Given the description of an element on the screen output the (x, y) to click on. 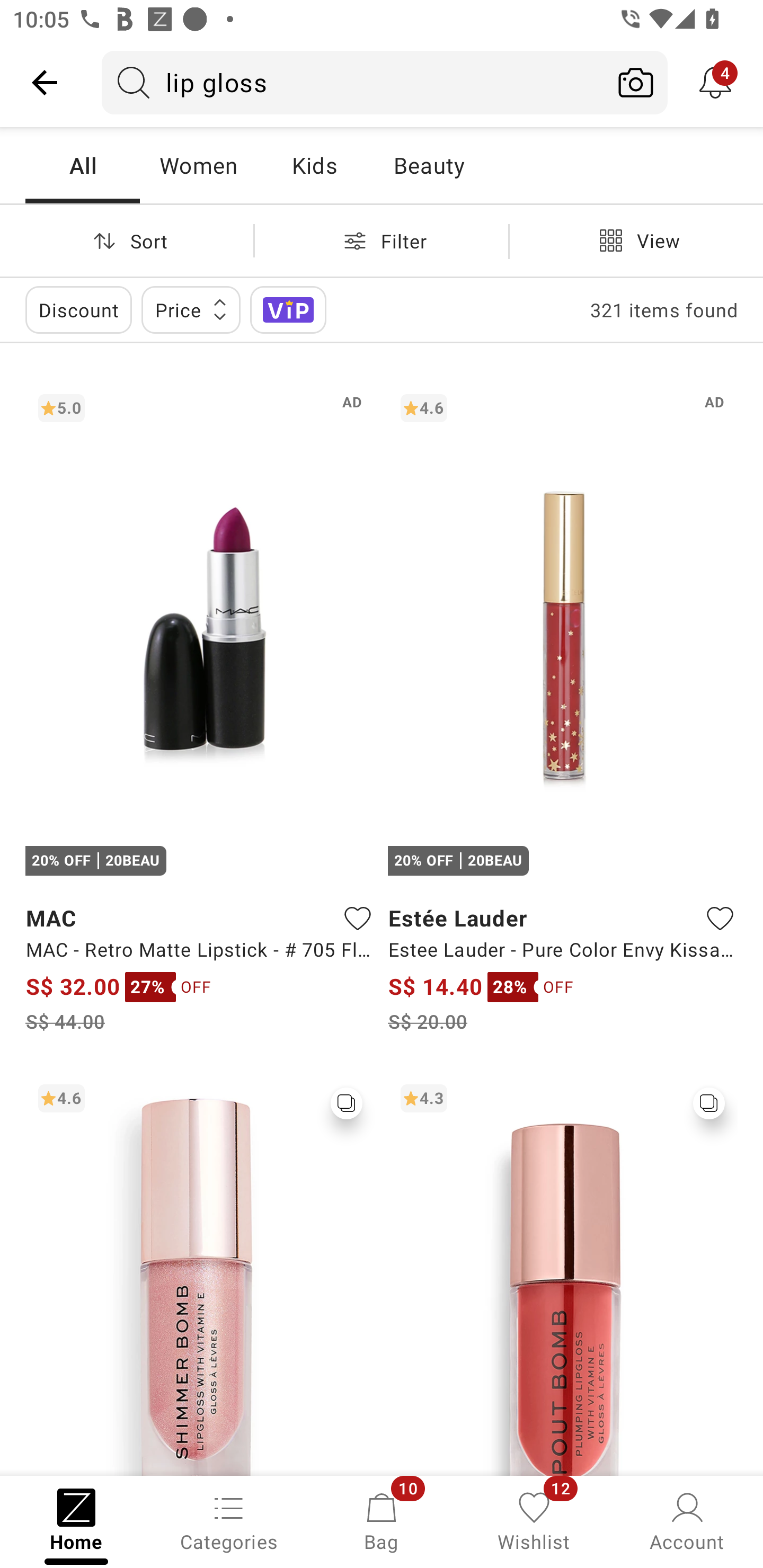
Navigate up (44, 82)
lip gloss (352, 82)
Women (198, 165)
Kids (314, 165)
Beauty (428, 165)
Sort (126, 240)
Filter (381, 240)
View (636, 240)
Discount (78, 309)
Price (190, 309)
4.6 (200, 1272)
4.3 (562, 1272)
Categories (228, 1519)
Bag, 10 new notifications Bag (381, 1519)
Wishlist, 12 new notifications Wishlist (533, 1519)
Account (686, 1519)
